Given the description of an element on the screen output the (x, y) to click on. 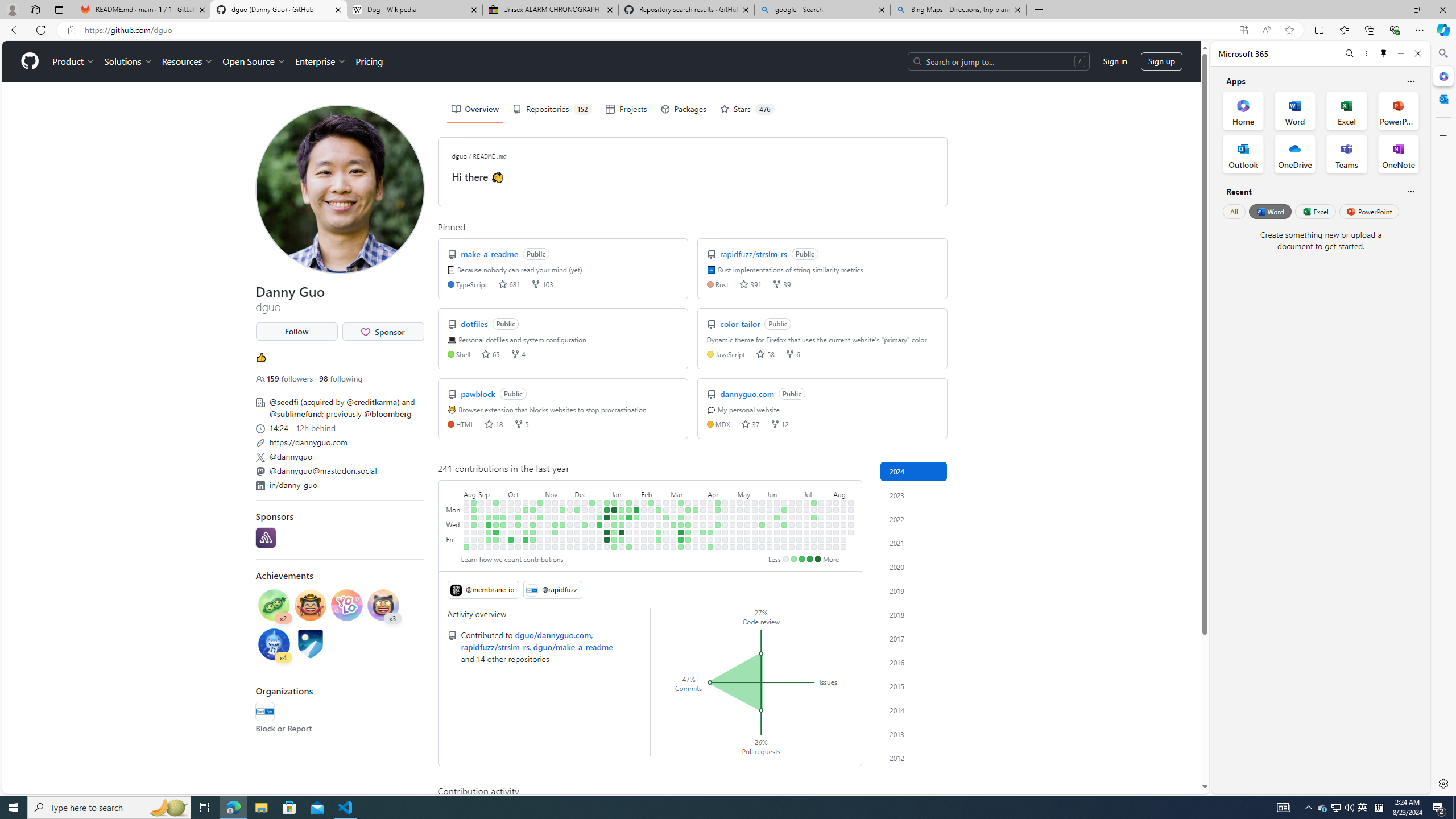
Repositories 152 (552, 108)
Achievement: Arctic Code Vault Contributor (310, 644)
No contributions on October 21st. (525, 546)
No contributions on July 26th. (821, 539)
No contributions on May 6th. (740, 509)
2 contributions on February 11th. (651, 502)
No contributions on February 26th. (665, 509)
No contributions on October 18th. (525, 524)
No contributions on April 18th. (717, 531)
OneDrive Office App (1295, 154)
Stars 476 (746, 108)
2023 (913, 494)
No contributions on November 9th. (547, 531)
